Given the description of an element on the screen output the (x, y) to click on. 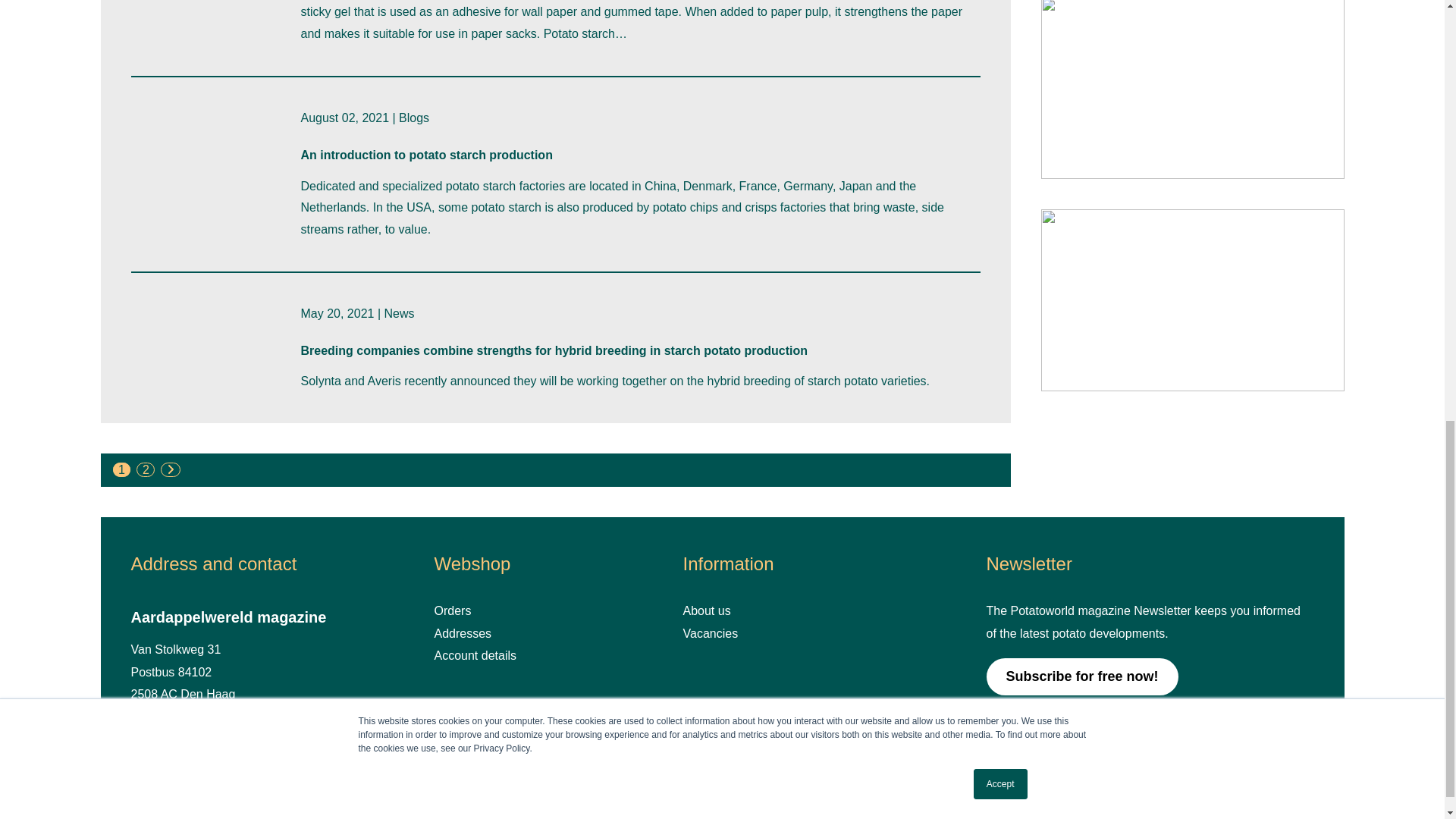
Facebook (1028, 764)
LinkedIn (1056, 764)
1 (121, 469)
Vacancies (710, 633)
About us (706, 610)
Addresses (462, 633)
Orders (451, 610)
Twitter (999, 764)
2 (145, 469)
Account details (474, 655)
Subscribe for free now! (1081, 676)
